Given the description of an element on the screen output the (x, y) to click on. 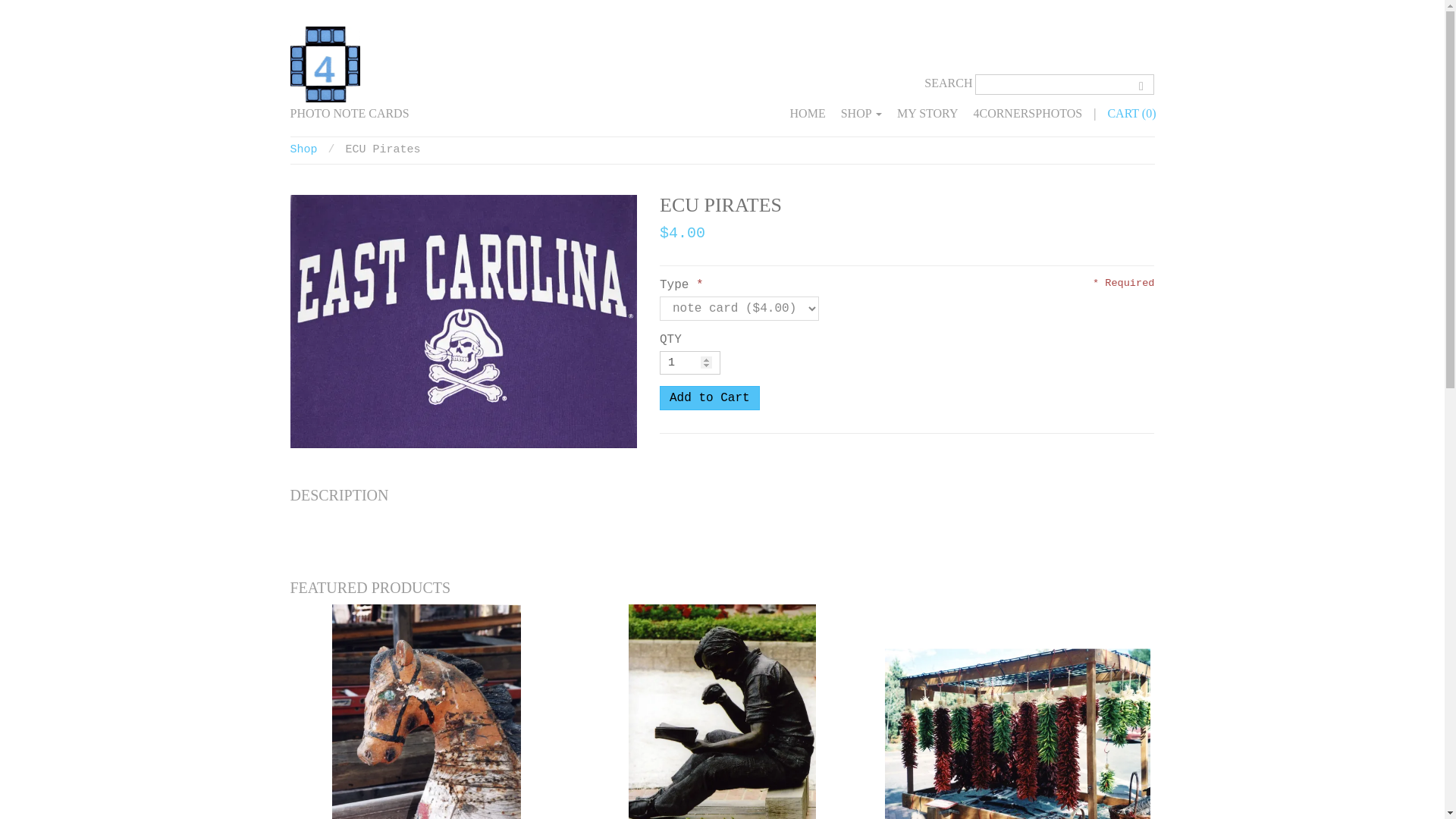
SHOP (860, 113)
HOME (807, 113)
Add to Cart (709, 397)
1 (689, 362)
